Given the description of an element on the screen output the (x, y) to click on. 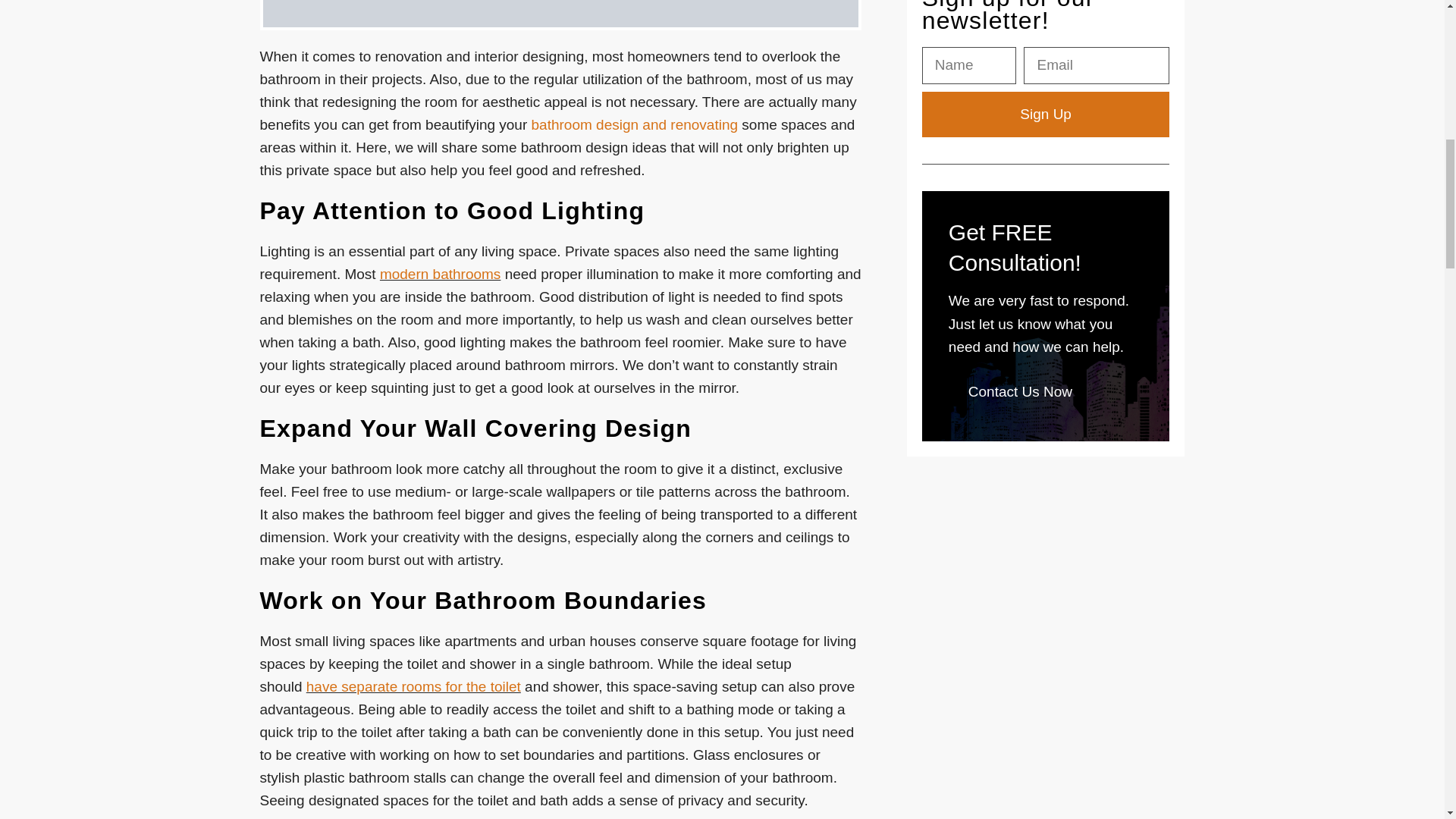
have separate rooms for the toilet (413, 686)
bathroom design and renovating (634, 124)
Contact Us Now (1020, 392)
Sign Up (1045, 114)
modern bathrooms (440, 273)
